Given the description of an element on the screen output the (x, y) to click on. 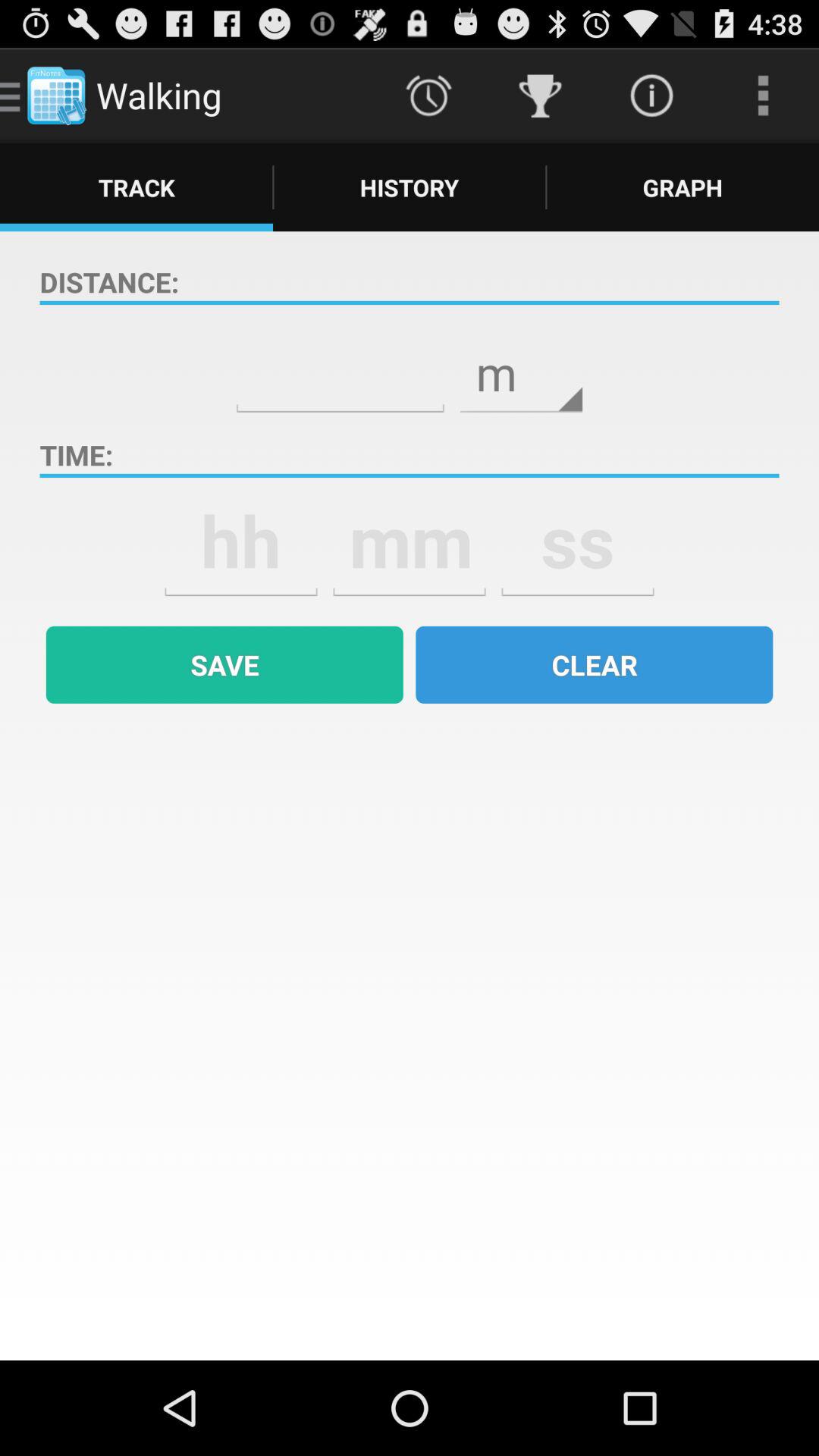
enter seconds (577, 540)
